Given the description of an element on the screen output the (x, y) to click on. 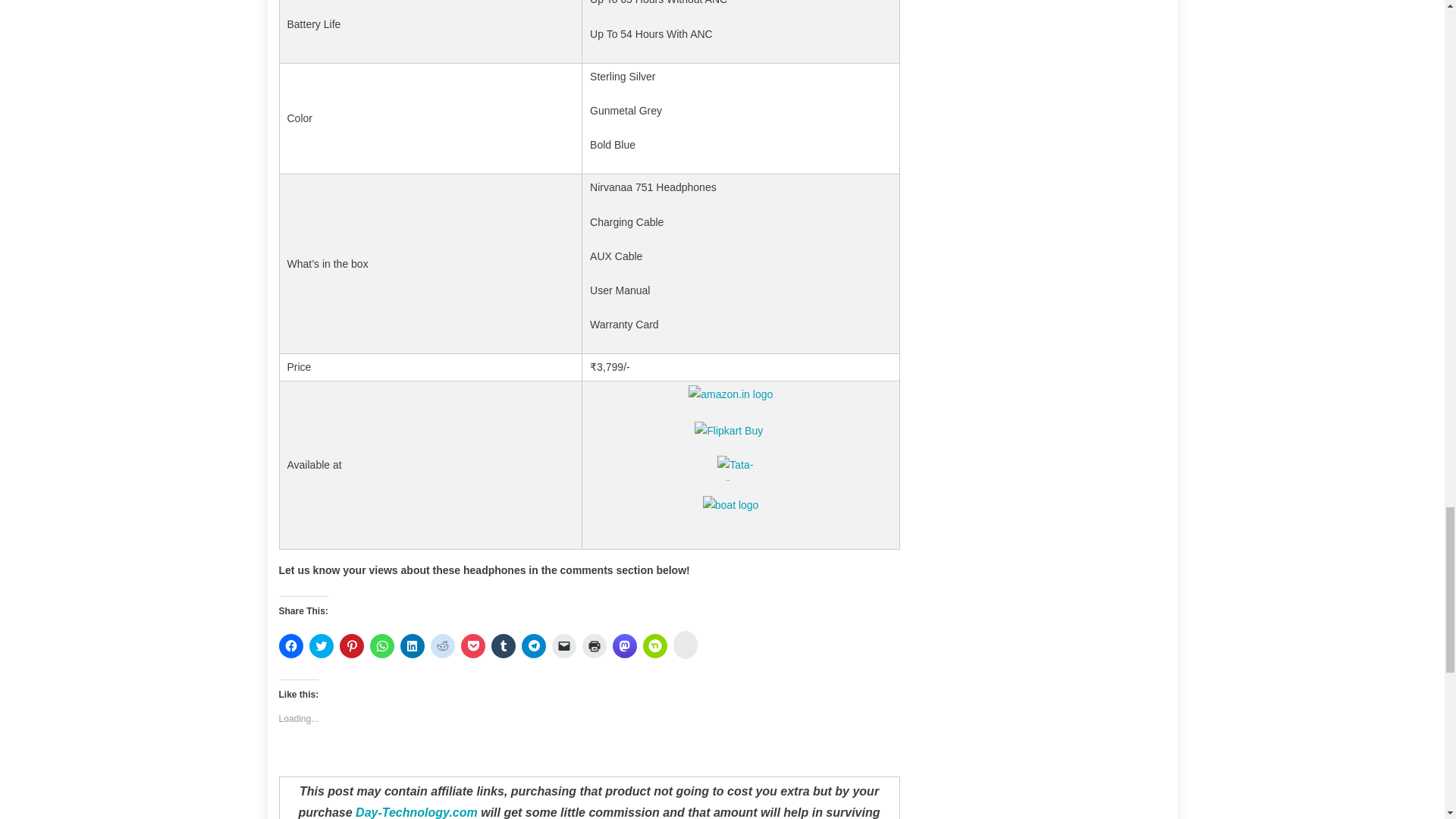
Click to share on Twitter (320, 645)
Click to share on Reddit (442, 645)
Click to share on Mastodon (624, 645)
Click to share on Pocket (472, 645)
Click to share on Facebook (290, 645)
Click to print (594, 645)
Click to email a link to a friend (563, 645)
Click to share on WhatsApp (381, 645)
Click to share on Tumblr (503, 645)
Click to share on Pinterest (351, 645)
